Given the description of an element on the screen output the (x, y) to click on. 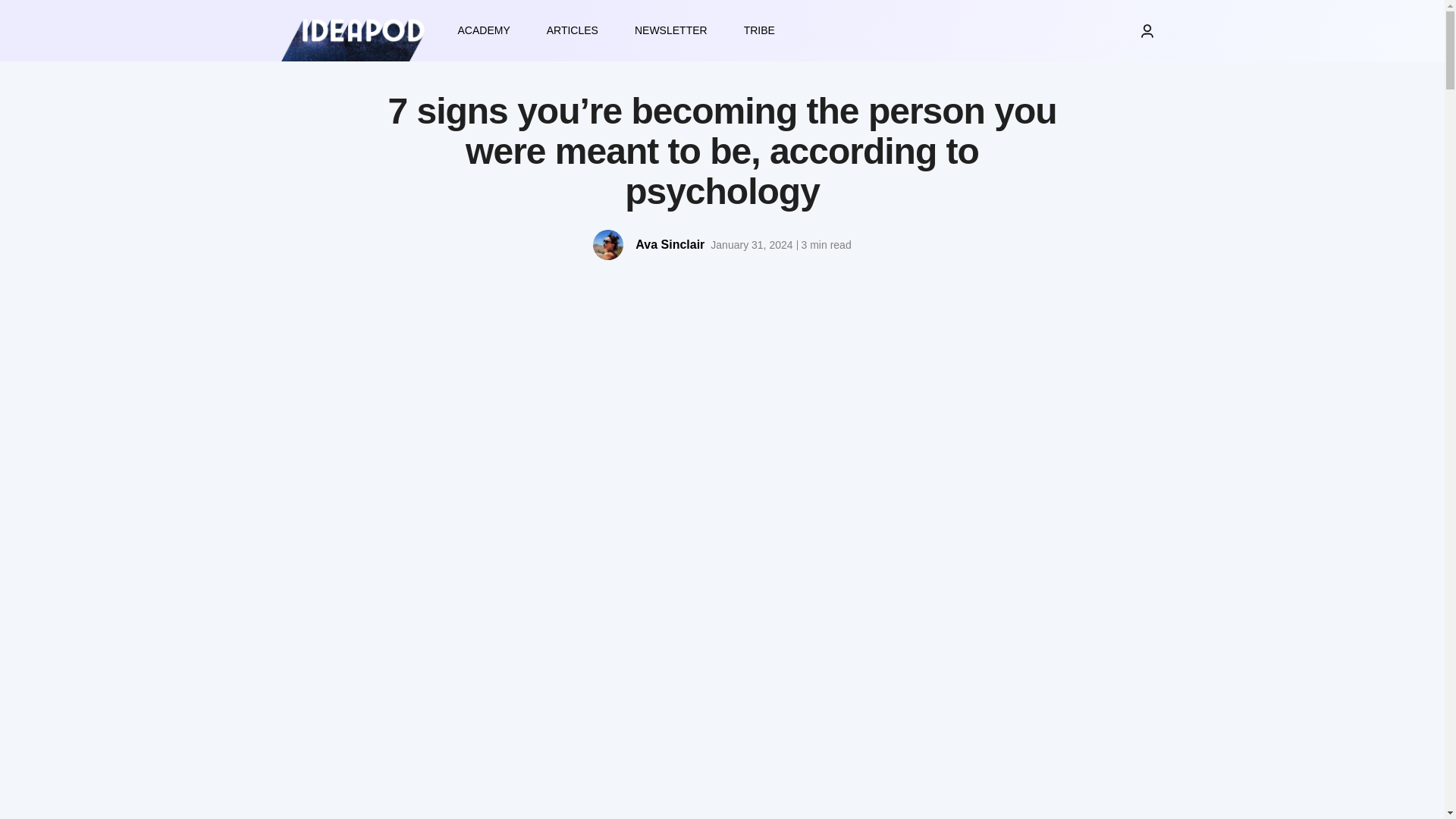
ARTICLES (571, 30)
NEWSLETTER (670, 30)
ACADEMY (483, 30)
